Given the description of an element on the screen output the (x, y) to click on. 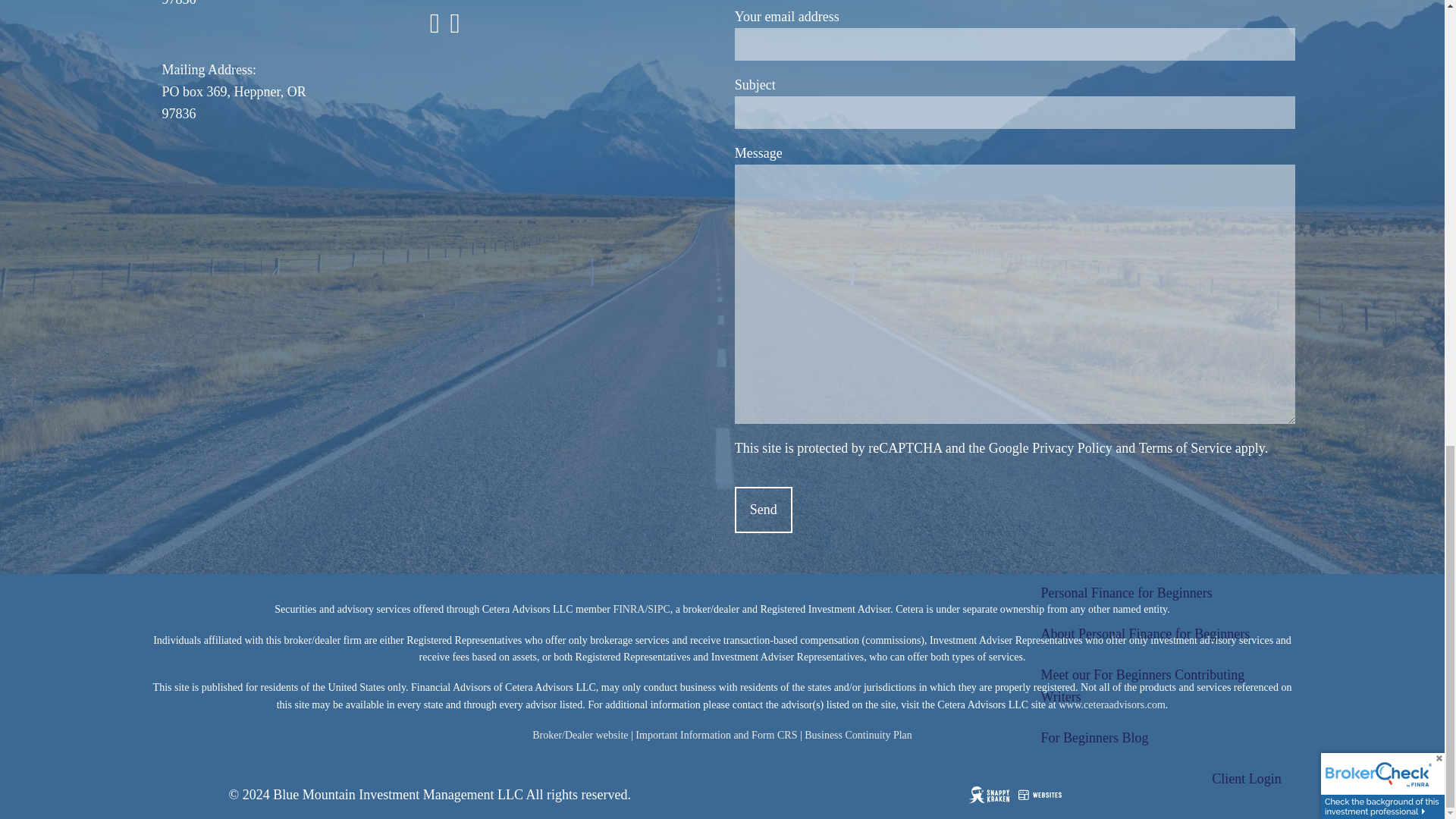
Business Continuity Plan (858, 735)
www.ceteraadvisors.com (1112, 704)
FINRA (628, 609)
Send (763, 509)
Important Information and Form CRS (715, 735)
Privacy Policy (1072, 447)
SIPC (658, 609)
Terms of Service (1184, 447)
Send (763, 509)
